Given the description of an element on the screen output the (x, y) to click on. 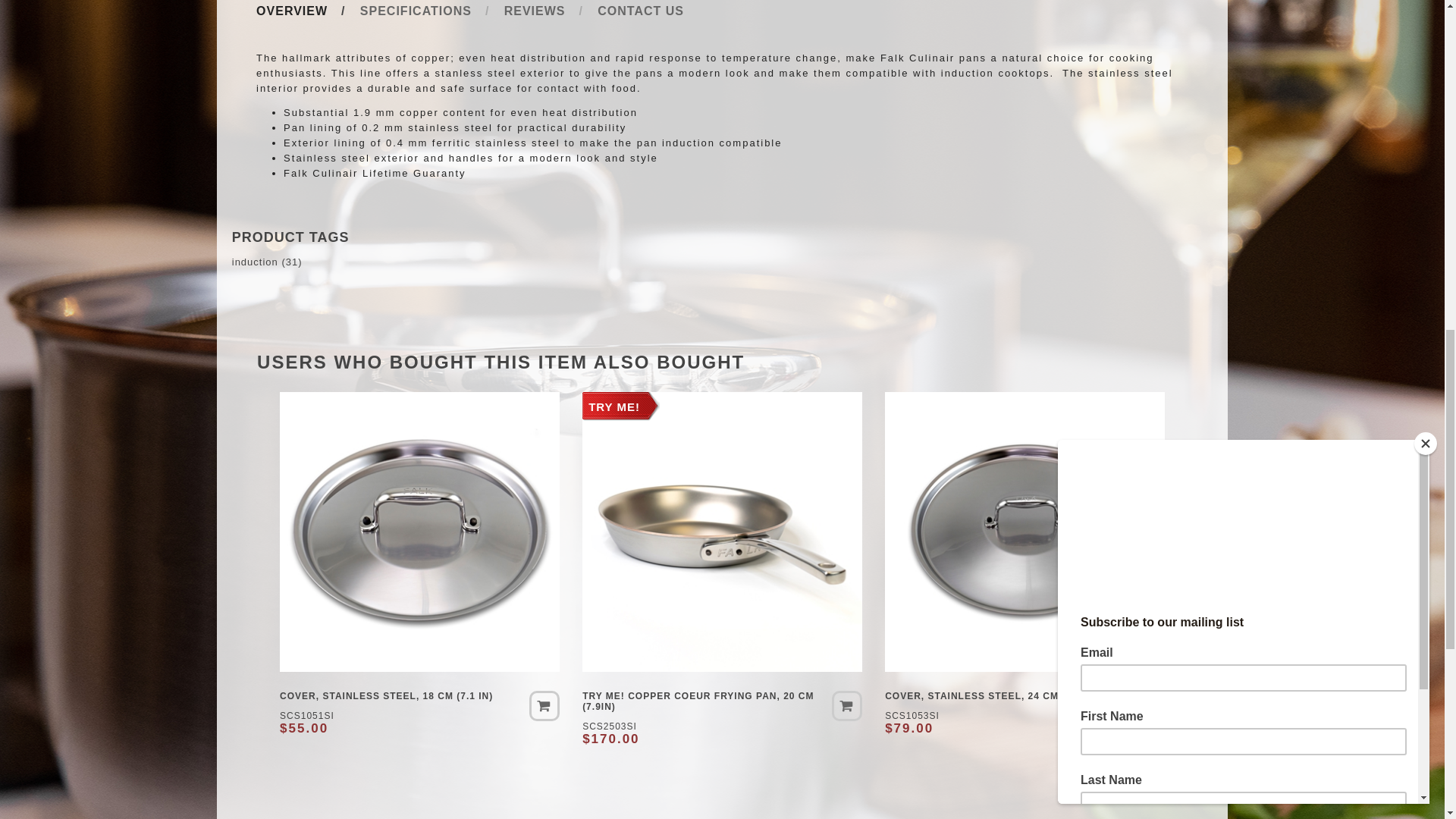
Add to cart (544, 706)
Add to cart (846, 706)
Add to cart (1149, 706)
